Given the description of an element on the screen output the (x, y) to click on. 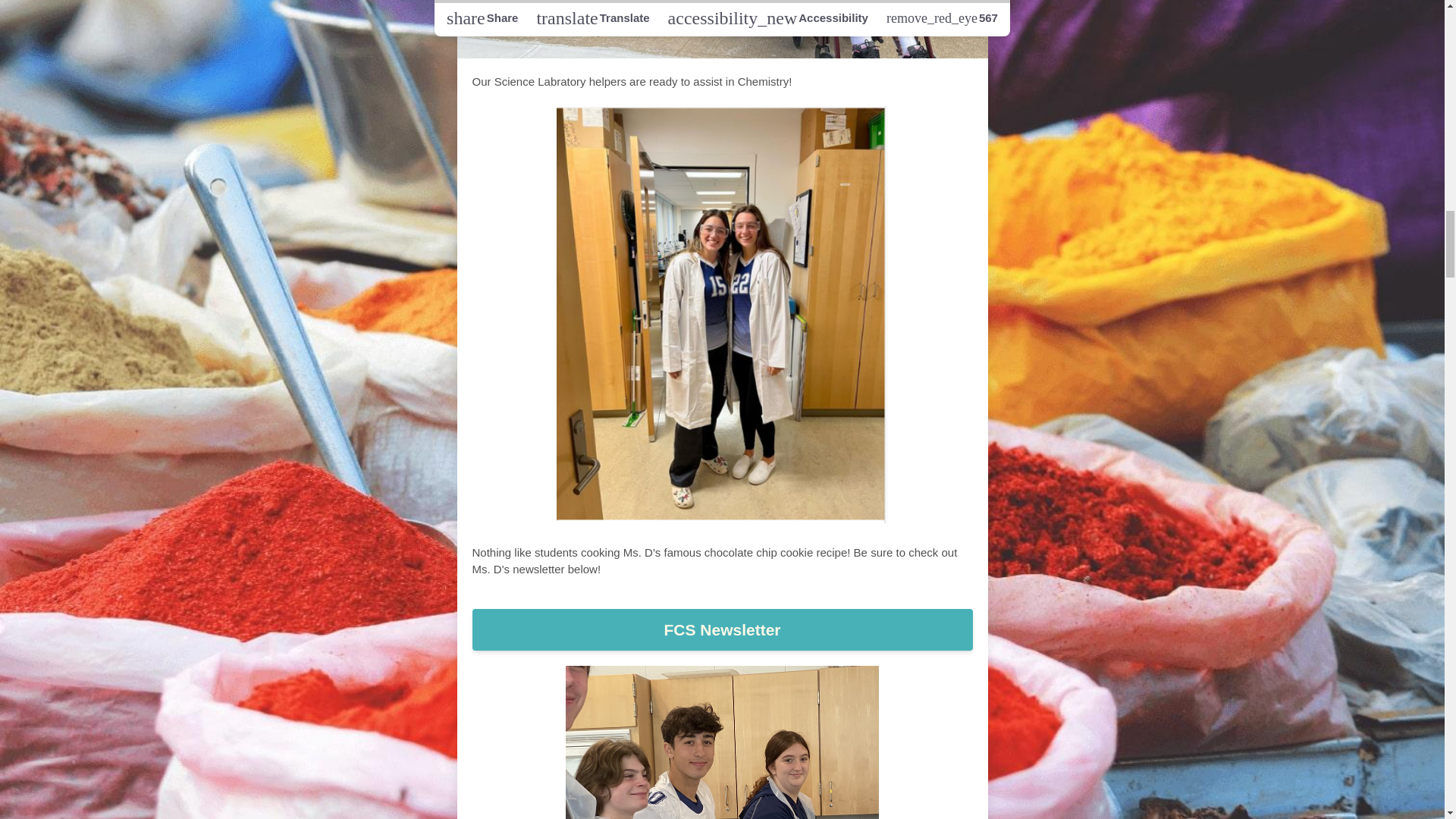
FCS Newsletter (721, 630)
